Given the description of an element on the screen output the (x, y) to click on. 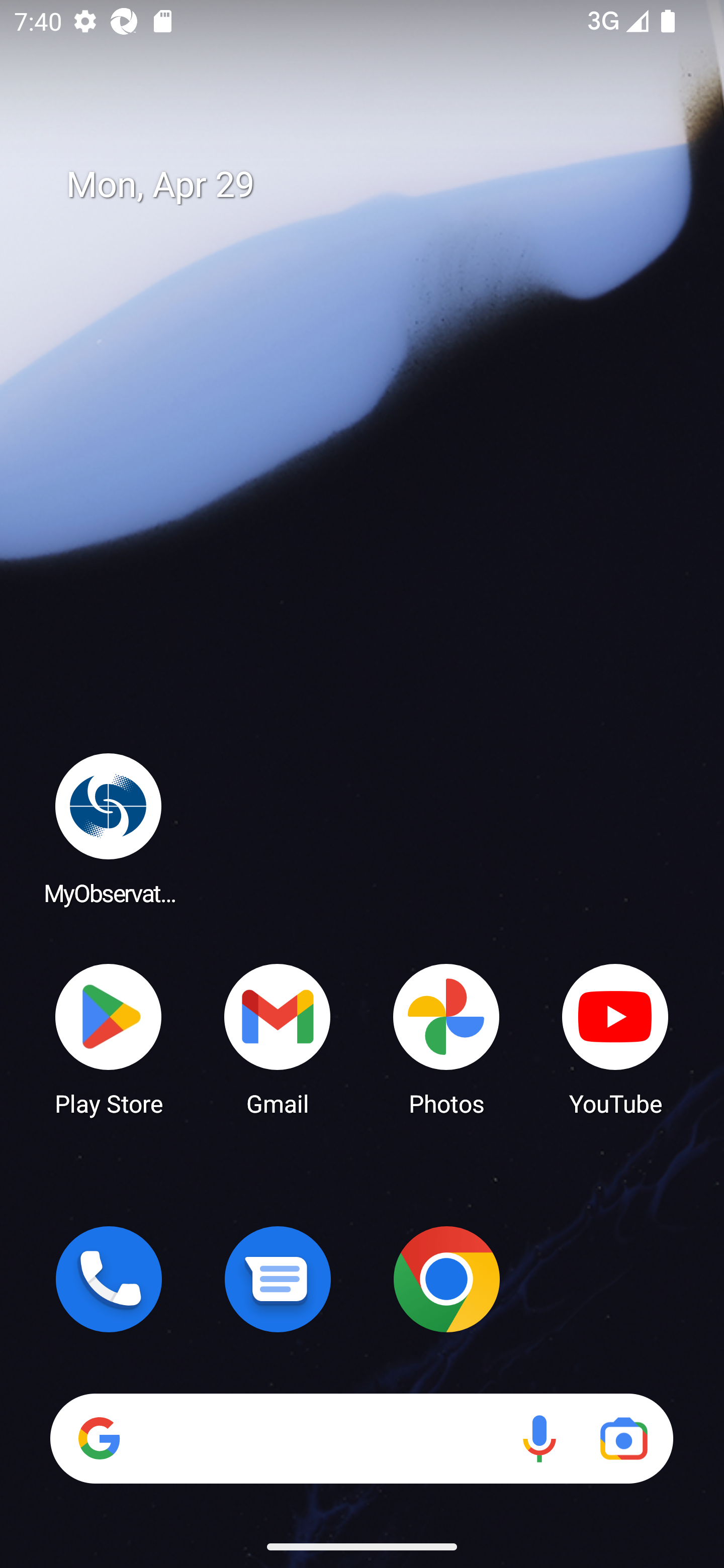
Mon, Apr 29 (375, 184)
MyObservatory (108, 828)
Play Store (108, 1038)
Gmail (277, 1038)
Photos (445, 1038)
YouTube (615, 1038)
Phone (108, 1279)
Messages (277, 1279)
Chrome (446, 1279)
Voice search (539, 1438)
Google Lens (623, 1438)
